Given the description of an element on the screen output the (x, y) to click on. 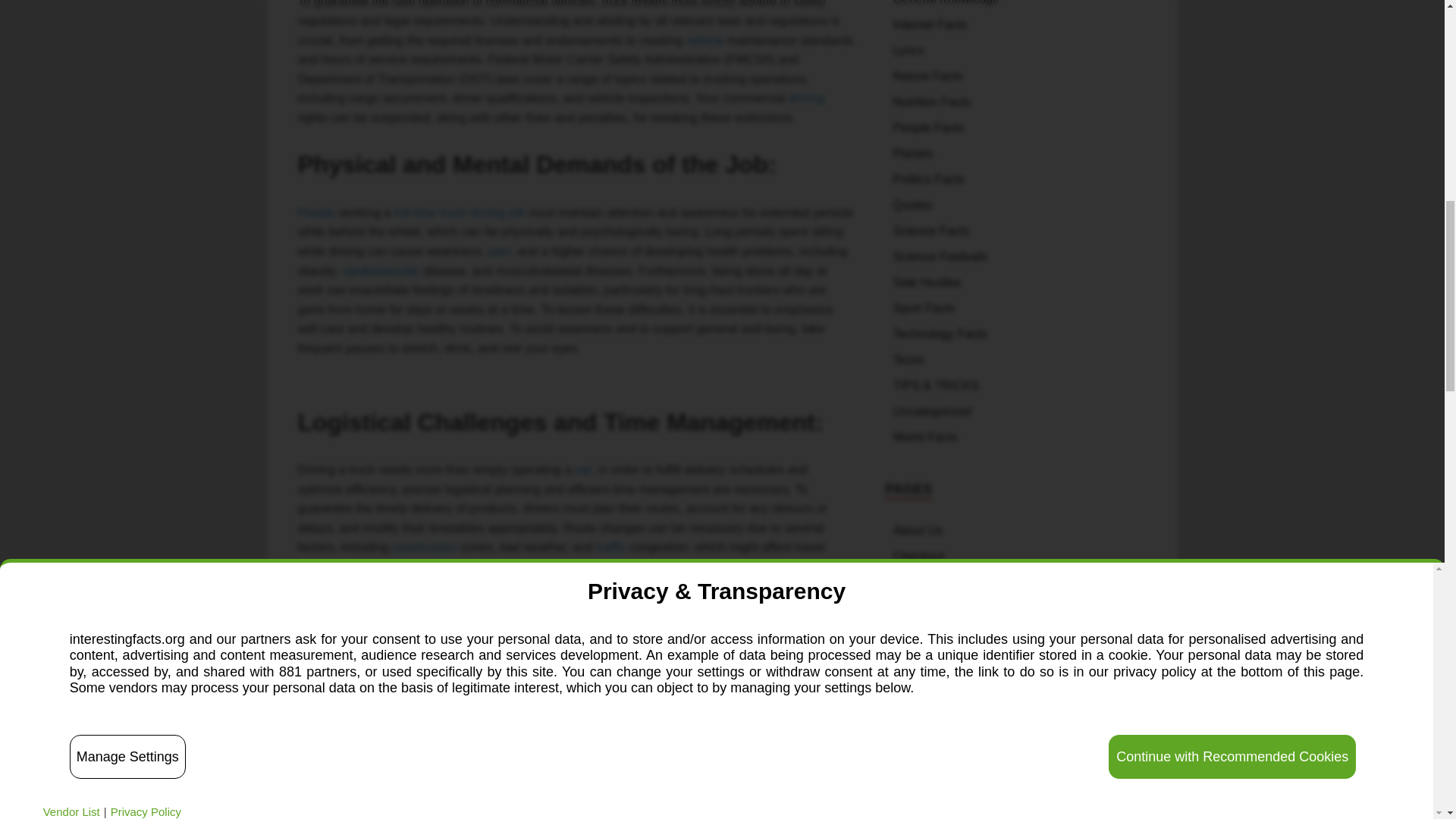
cardiovascular (381, 270)
full-time truck driving job (459, 212)
good work-life balance (608, 680)
construction (424, 546)
driving (806, 97)
traffic (611, 546)
vehicle (704, 40)
People (315, 212)
pain (499, 250)
hobbies (788, 699)
car (583, 469)
